Given the description of an element on the screen output the (x, y) to click on. 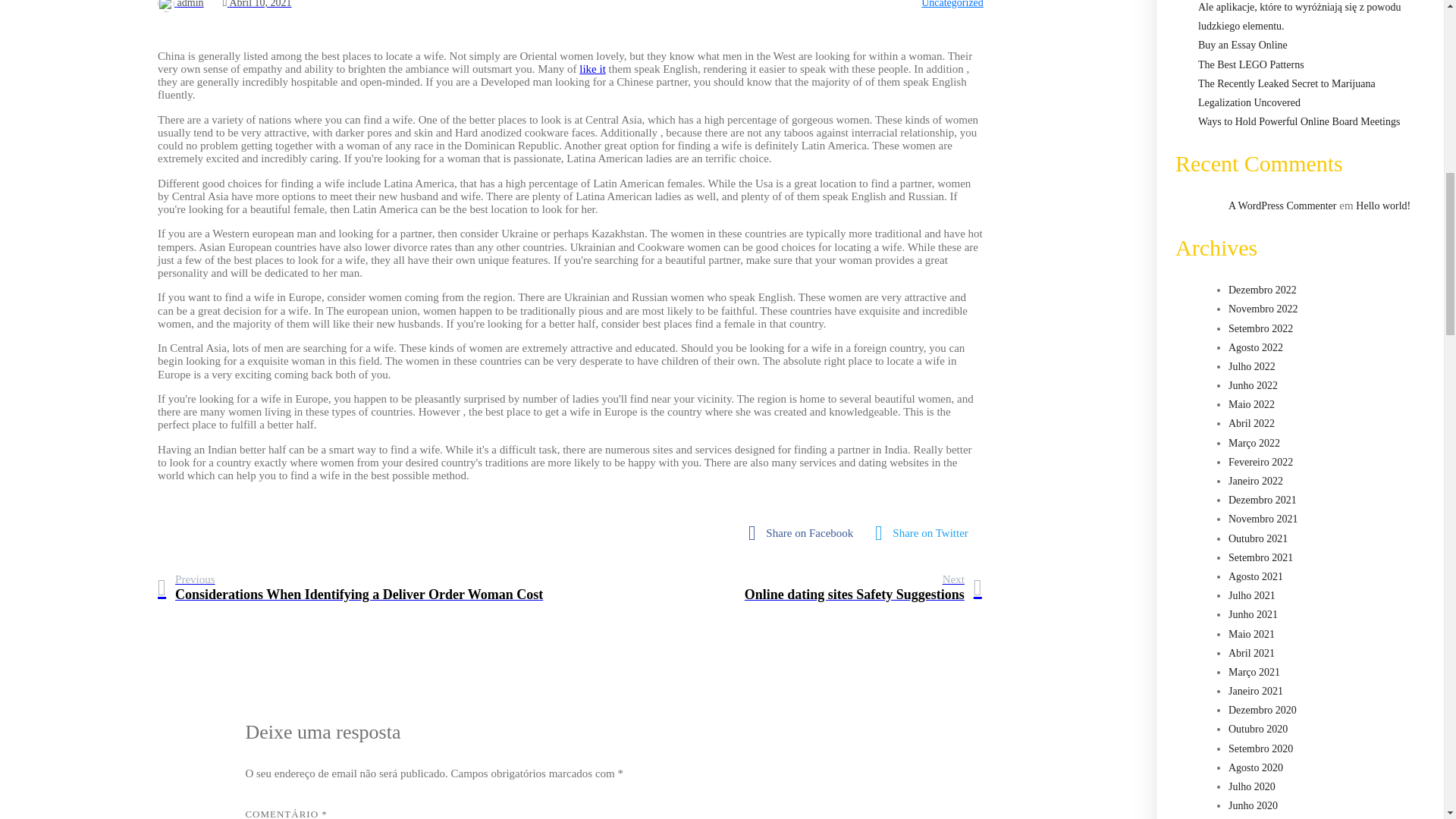
Fevereiro 2022 (1260, 461)
Abril 2021 (1251, 653)
Outubro 2021 (1257, 538)
Janeiro 2022 (1255, 480)
admin (180, 4)
Share on Twitter (925, 533)
Share on Facebook (804, 533)
Abril 10, 2021 (257, 4)
Uncategorized (952, 4)
Maio 2022 (1251, 404)
